Given the description of an element on the screen output the (x, y) to click on. 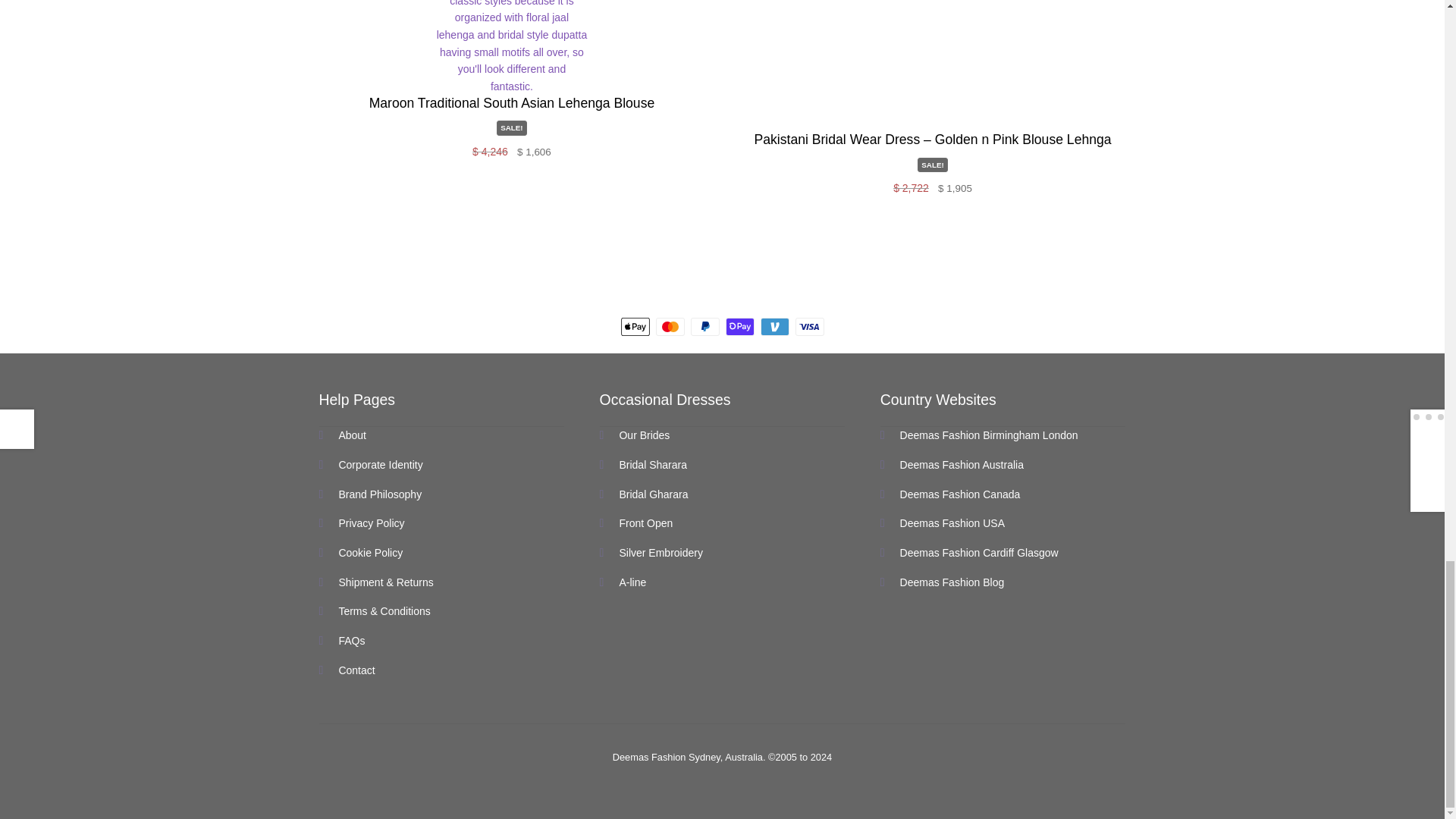
Visa (809, 326)
Shop Pay (739, 326)
PayPal (704, 326)
Mastercard (669, 326)
Apple Pay (634, 326)
Venmo (774, 326)
